Given the description of an element on the screen output the (x, y) to click on. 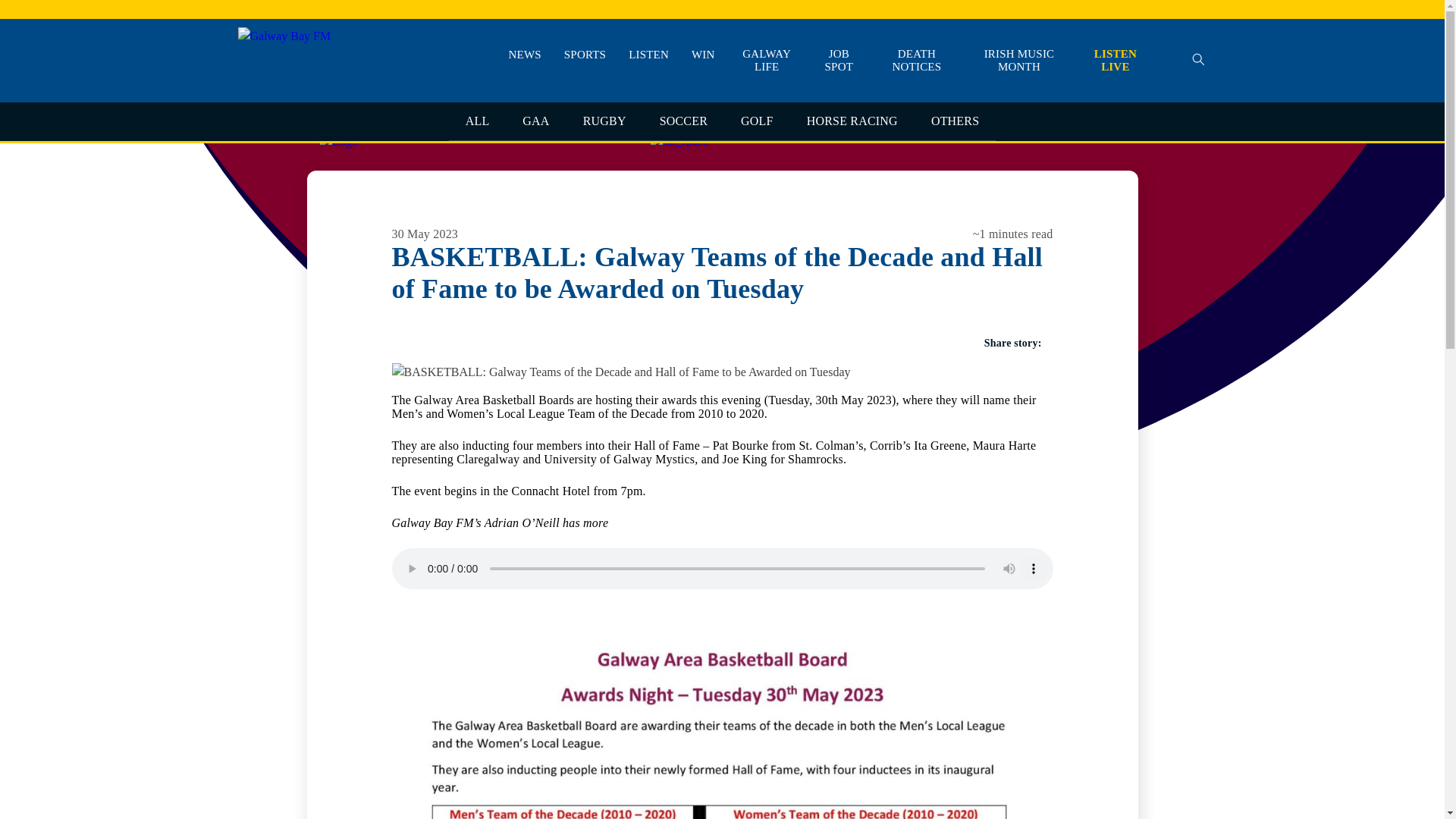
GAA (535, 121)
SOCCER (683, 121)
JOB SPOT (838, 60)
OTHERS (954, 121)
HORSE RACING (852, 121)
SPORTS (584, 54)
DEATH NOTICES (917, 60)
LISTEN LIVE (1115, 60)
IRISH MUSIC MONTH (1019, 60)
LISTEN (648, 54)
